Given the description of an element on the screen output the (x, y) to click on. 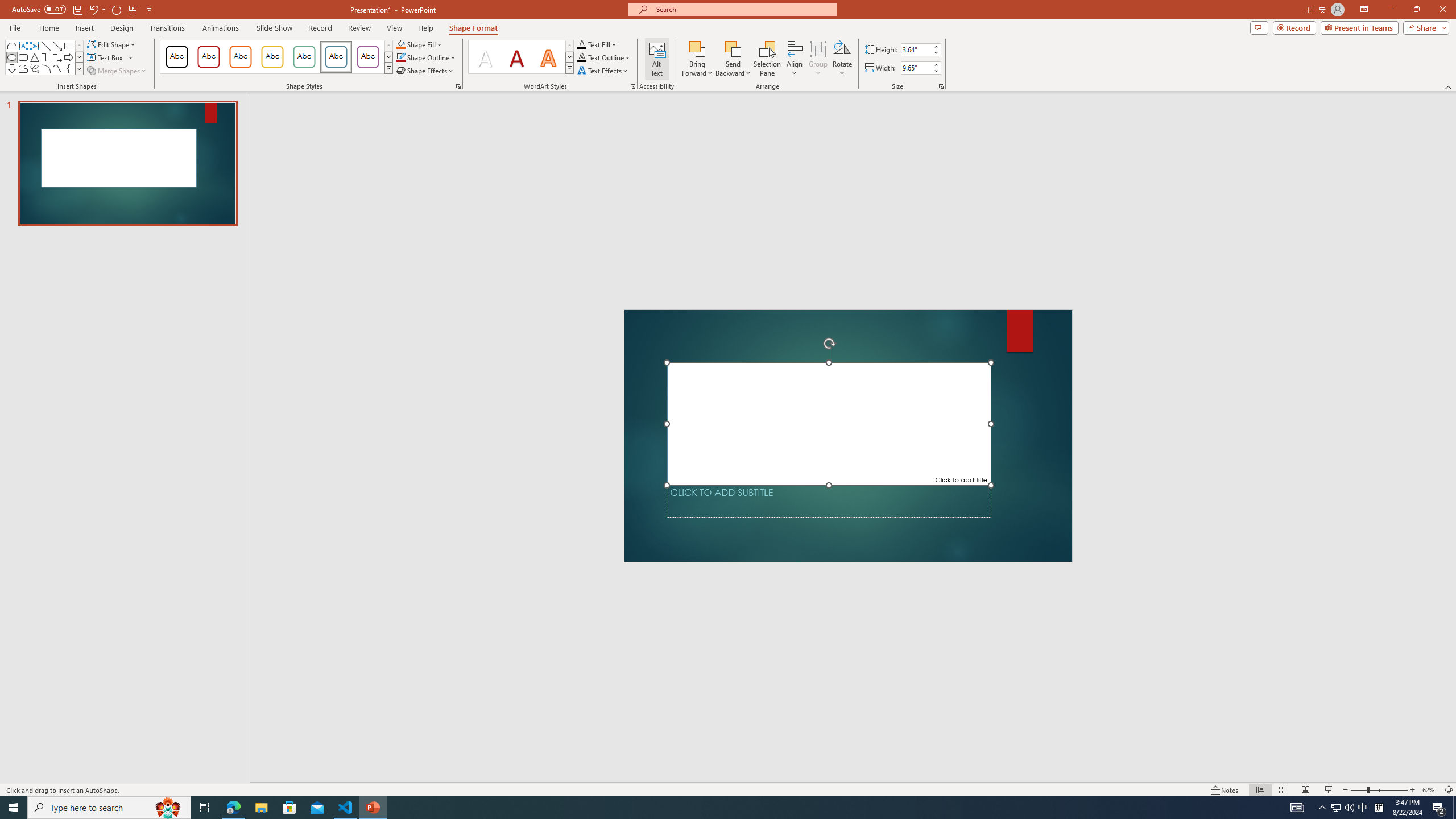
Text Box (110, 56)
Rotate (841, 58)
Subtitle TextBox (828, 500)
Arrow: Down (11, 68)
Zoom 62% (1430, 790)
Freeform: Scribble (34, 68)
Shape Outline No Outline (400, 56)
Arc (46, 68)
Oval (11, 57)
Less (935, 70)
